Given the description of an element on the screen output the (x, y) to click on. 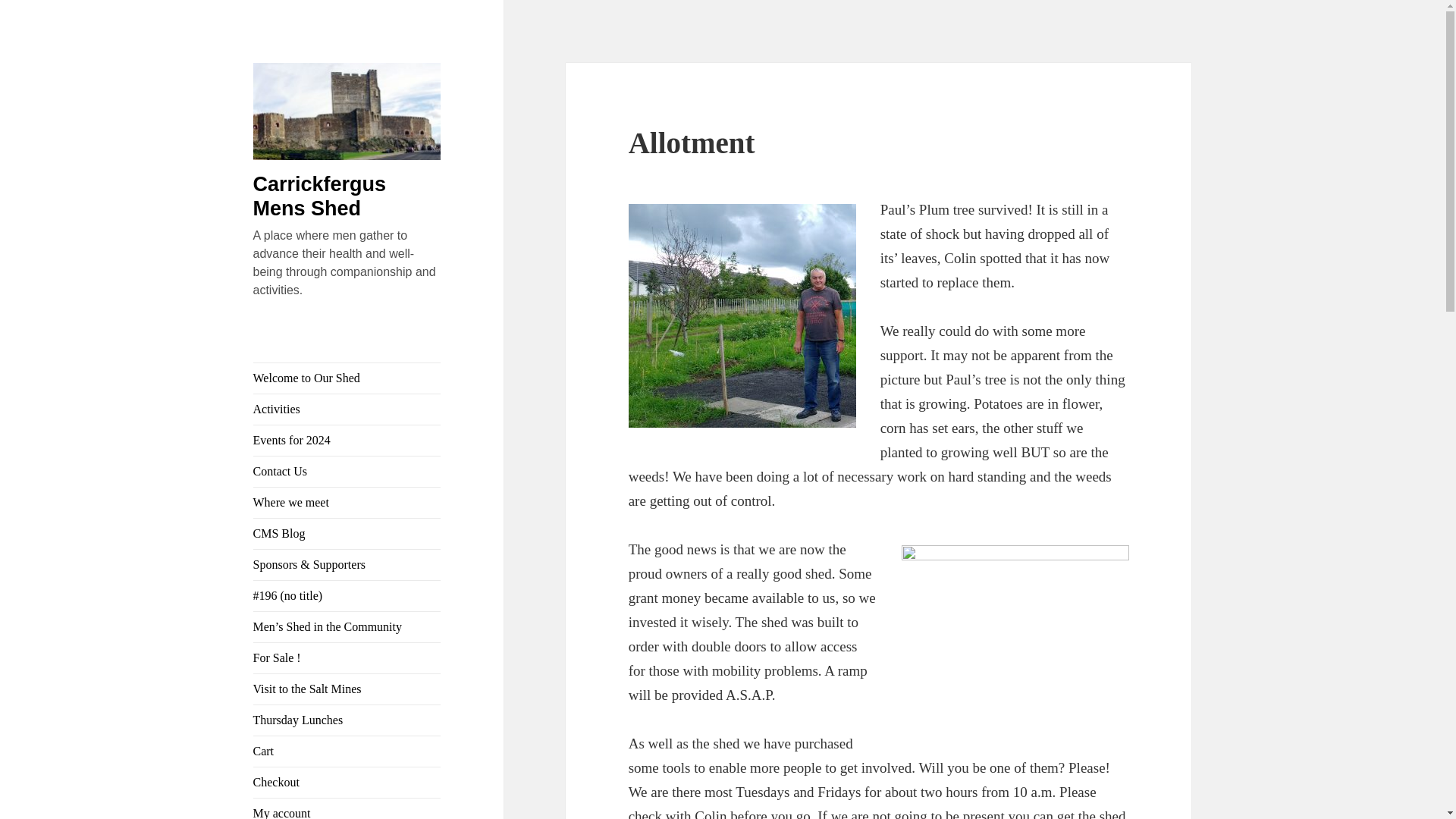
Thursday Lunches (347, 720)
Where we meet (347, 502)
Carrickfergus Mens Shed (320, 196)
Activities (347, 409)
For Sale ! (347, 657)
Contact Us (347, 471)
Welcome to Our Shed (347, 378)
My account (347, 808)
CMS Blog (347, 533)
Cart (347, 751)
Events for 2024 (347, 440)
Visit to the Salt Mines (347, 689)
Checkout (347, 782)
